Given the description of an element on the screen output the (x, y) to click on. 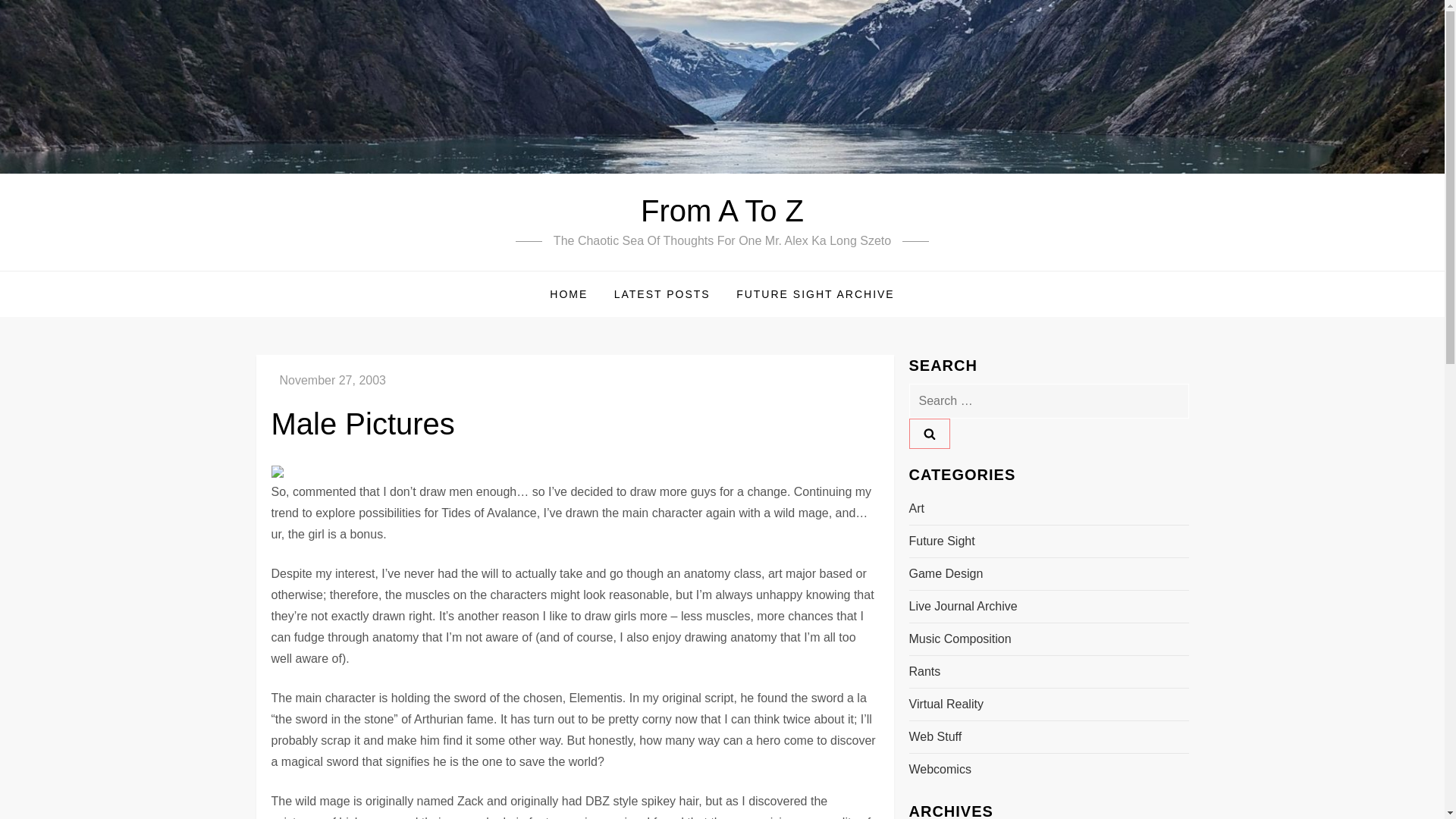
Webcomics (939, 769)
Search (928, 433)
Virtual Reality (945, 703)
Web Stuff (934, 736)
Game Design (945, 573)
From A To Z (721, 210)
FUTURE SIGHT ARCHIVE (815, 293)
Future Sight (941, 541)
LATEST POSTS (662, 293)
Music Composition (959, 639)
